Given the description of an element on the screen output the (x, y) to click on. 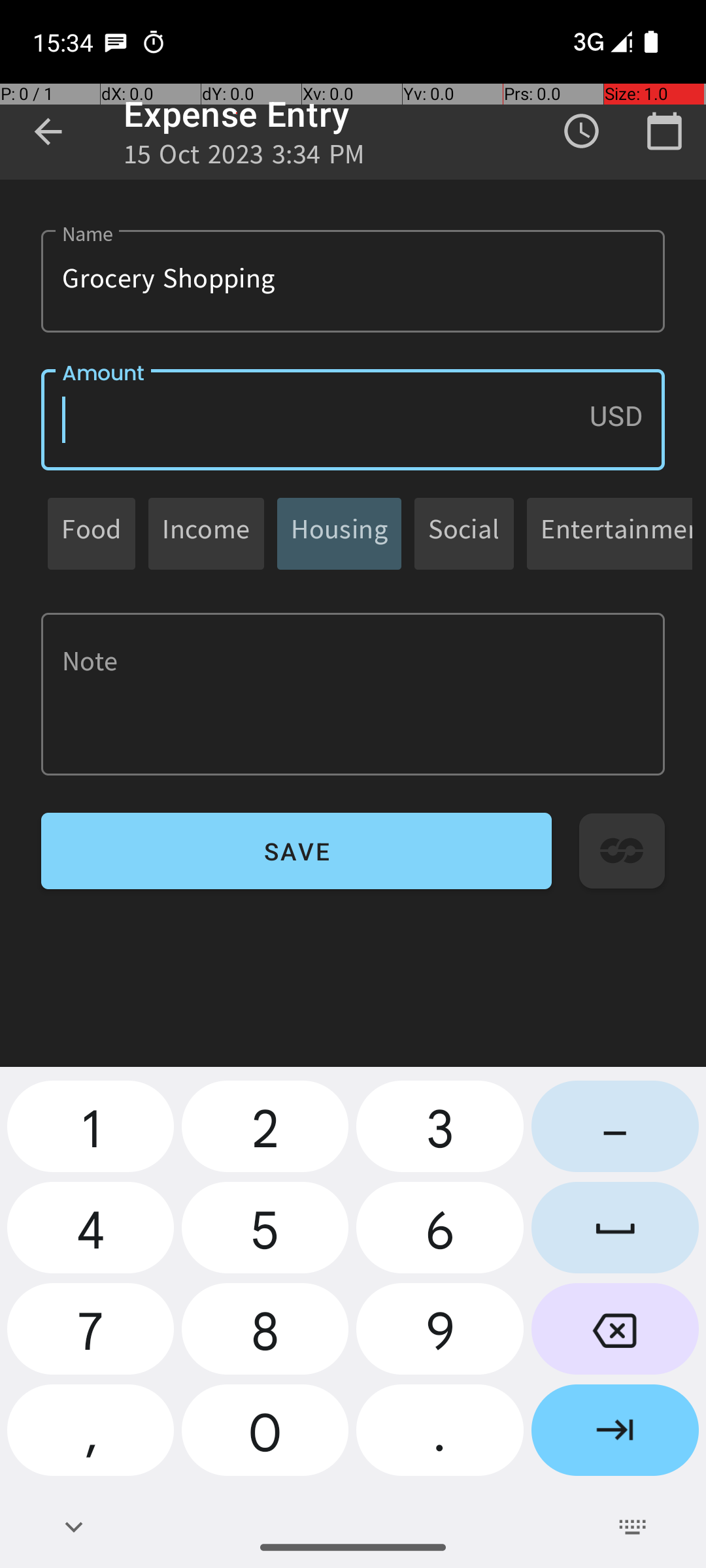
SMS Messenger notification: Sophie Gonzalez Element type: android.widget.ImageView (115, 41)
